Given the description of an element on the screen output the (x, y) to click on. 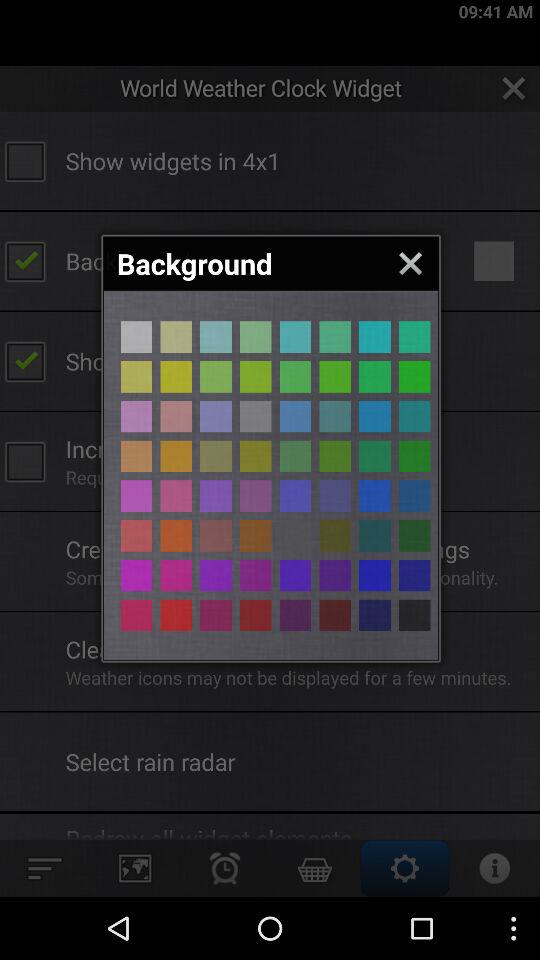
select background colour (335, 456)
